Given the description of an element on the screen output the (x, y) to click on. 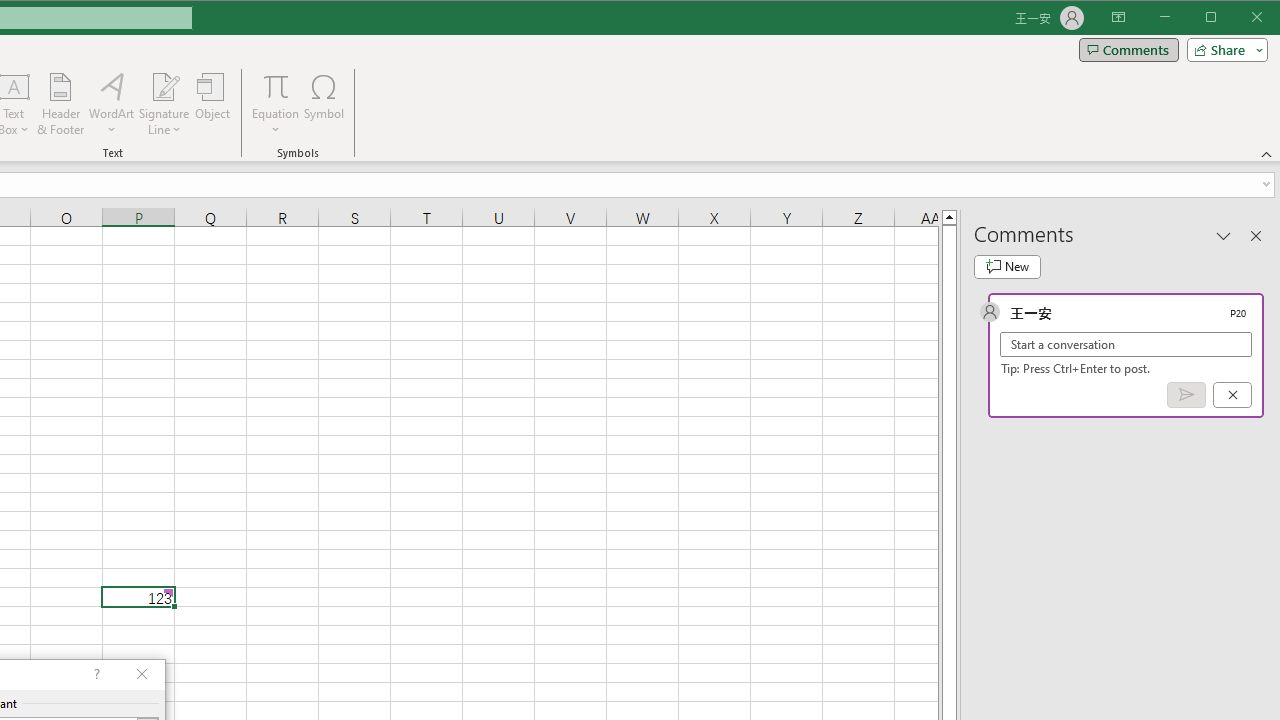
Object... (213, 104)
Equation (275, 104)
Start a conversation (1126, 344)
Maximize (1239, 18)
Signature Line (164, 86)
WordArt (111, 104)
